Given the description of an element on the screen output the (x, y) to click on. 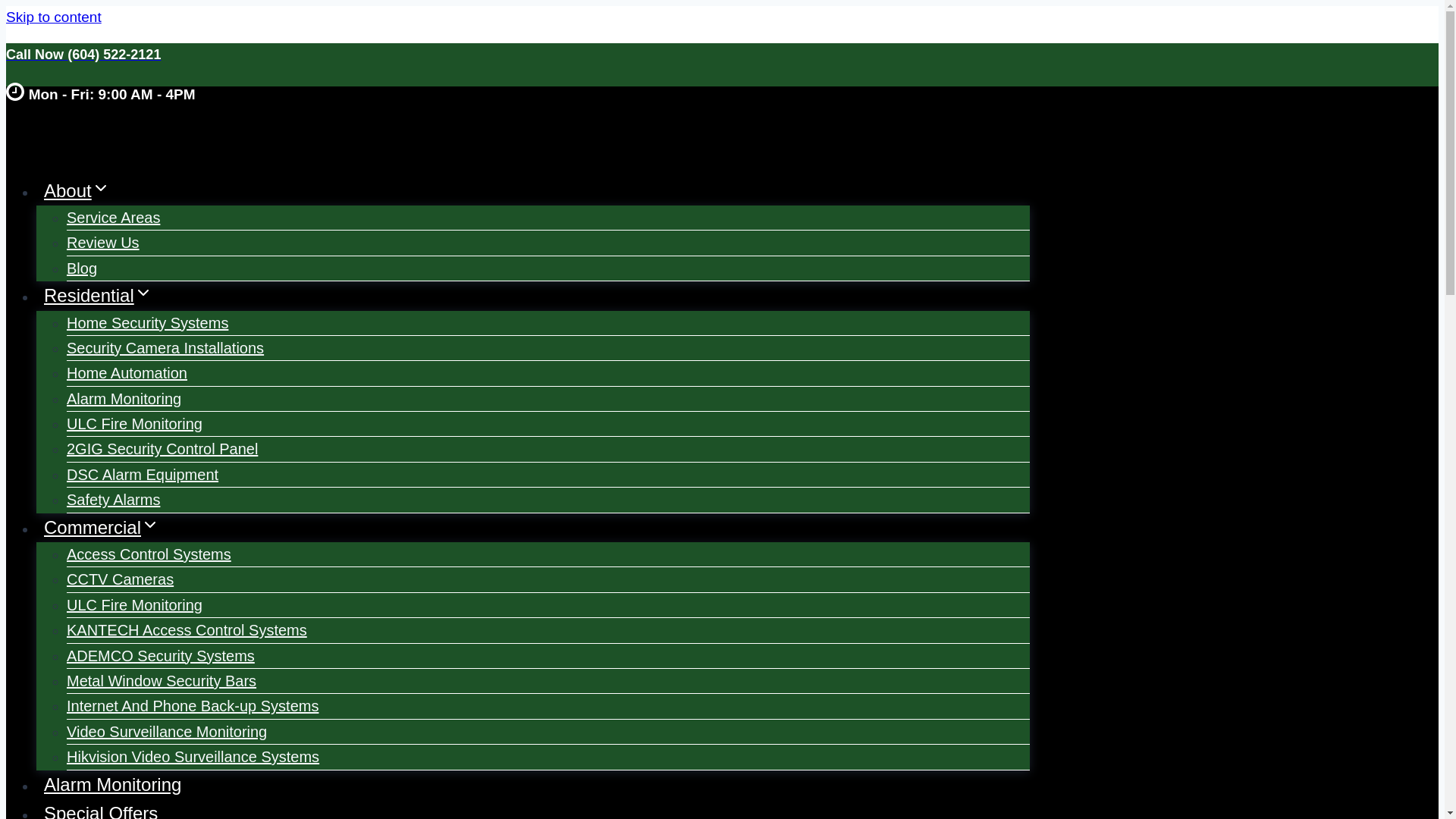
2GIG Security Control Panel (161, 448)
Expand (142, 292)
Alarm Monitoring (123, 398)
CCTV Cameras (119, 579)
Hikvision Video Surveillance Systems (192, 756)
AboutExpand (76, 190)
Expand (100, 188)
DSC Alarm Equipment (142, 474)
Expand (149, 524)
Access Control Systems (148, 554)
